Given the description of an element on the screen output the (x, y) to click on. 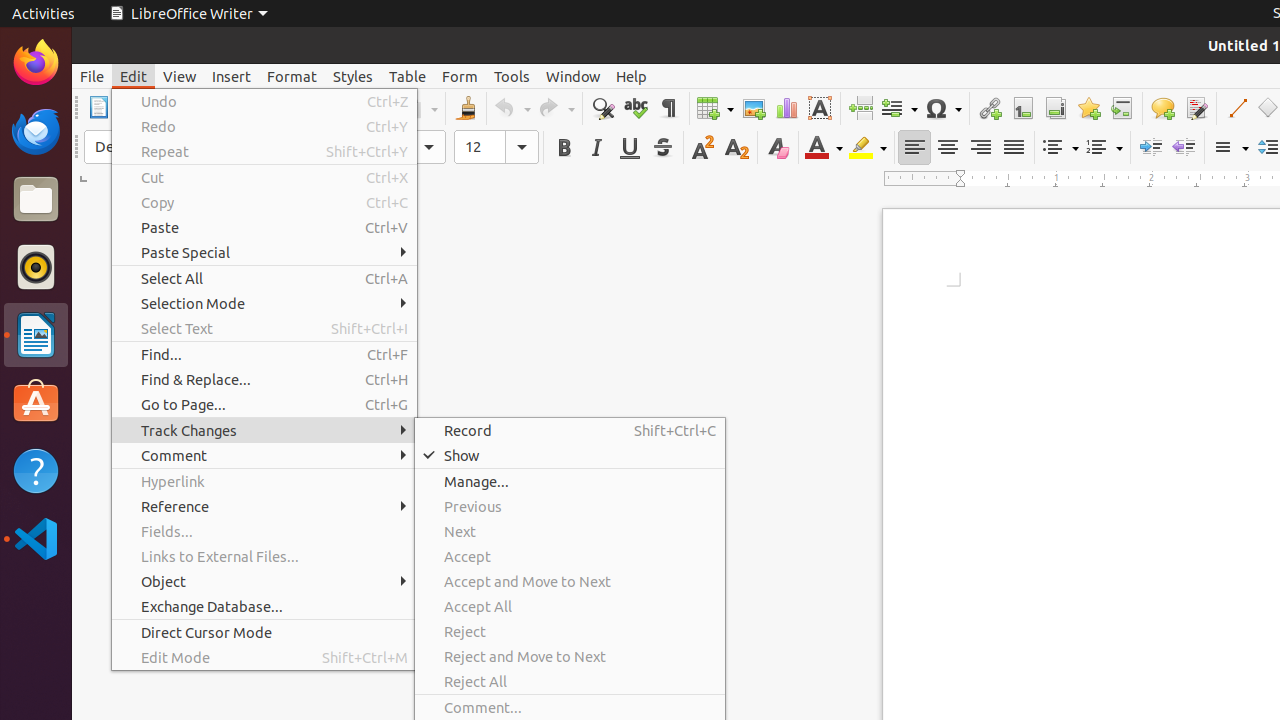
Selection Mode Element type: menu (264, 303)
Highlight Color Element type: push-button (868, 147)
Redo Element type: menu-item (264, 126)
Strikethrough Element type: toggle-button (662, 147)
Clear Element type: push-button (777, 147)
